Given the description of an element on the screen output the (x, y) to click on. 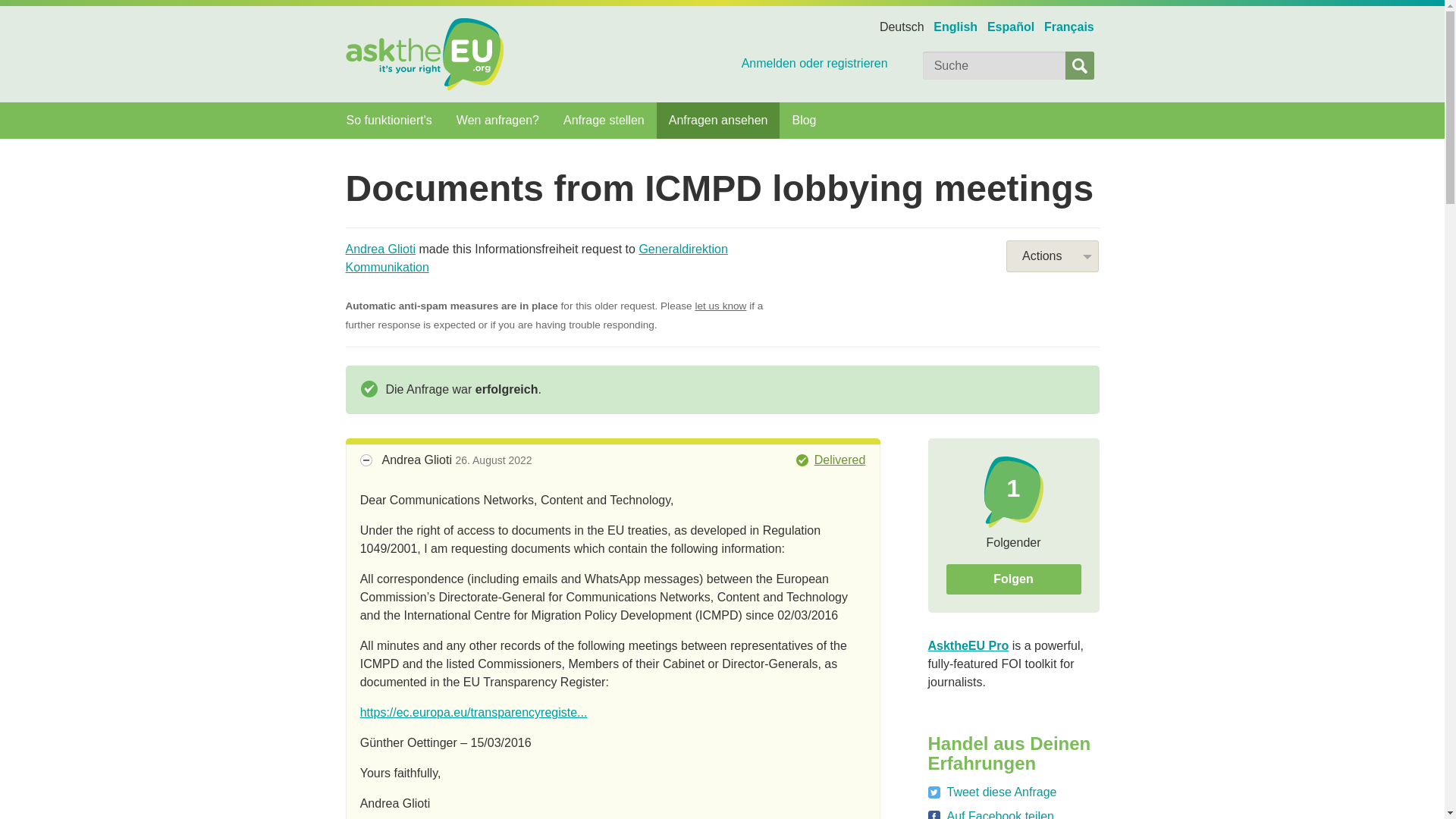
Generaldirektion Kommunikation (537, 257)
Actions (1052, 255)
Wen anfragen? (497, 120)
26. August 2022 (492, 460)
Anfrage stellen (603, 120)
AsktheEU.org (424, 54)
English (955, 27)
Anfragen ansehen (718, 120)
Delivered (831, 459)
Andrea Glioti (381, 248)
Geben Sie Ihren Suchbegriff hier ein (994, 65)
Suchanfrage absenden (1079, 65)
Anmelden oder registrieren (751, 63)
Blog (803, 120)
let us know (719, 306)
